Given the description of an element on the screen output the (x, y) to click on. 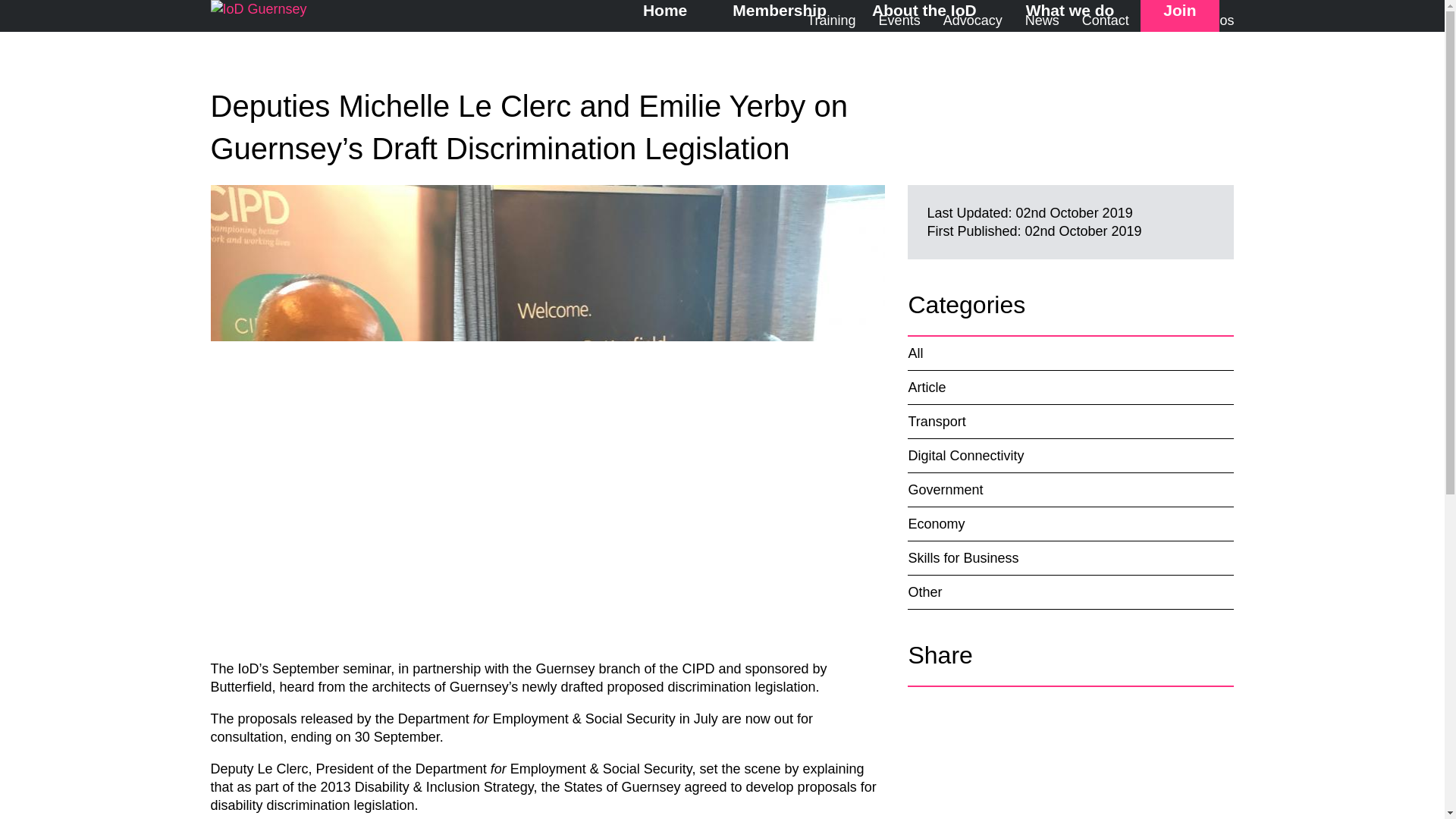
The IOD Guernsey's latest videos (1193, 20)
Contact (1105, 20)
About the IoD (925, 9)
All (1070, 353)
Article (1070, 387)
Other (1070, 592)
Advocacy (972, 20)
Skills for Business (1070, 557)
Training (830, 20)
Transport (1070, 421)
